Given the description of an element on the screen output the (x, y) to click on. 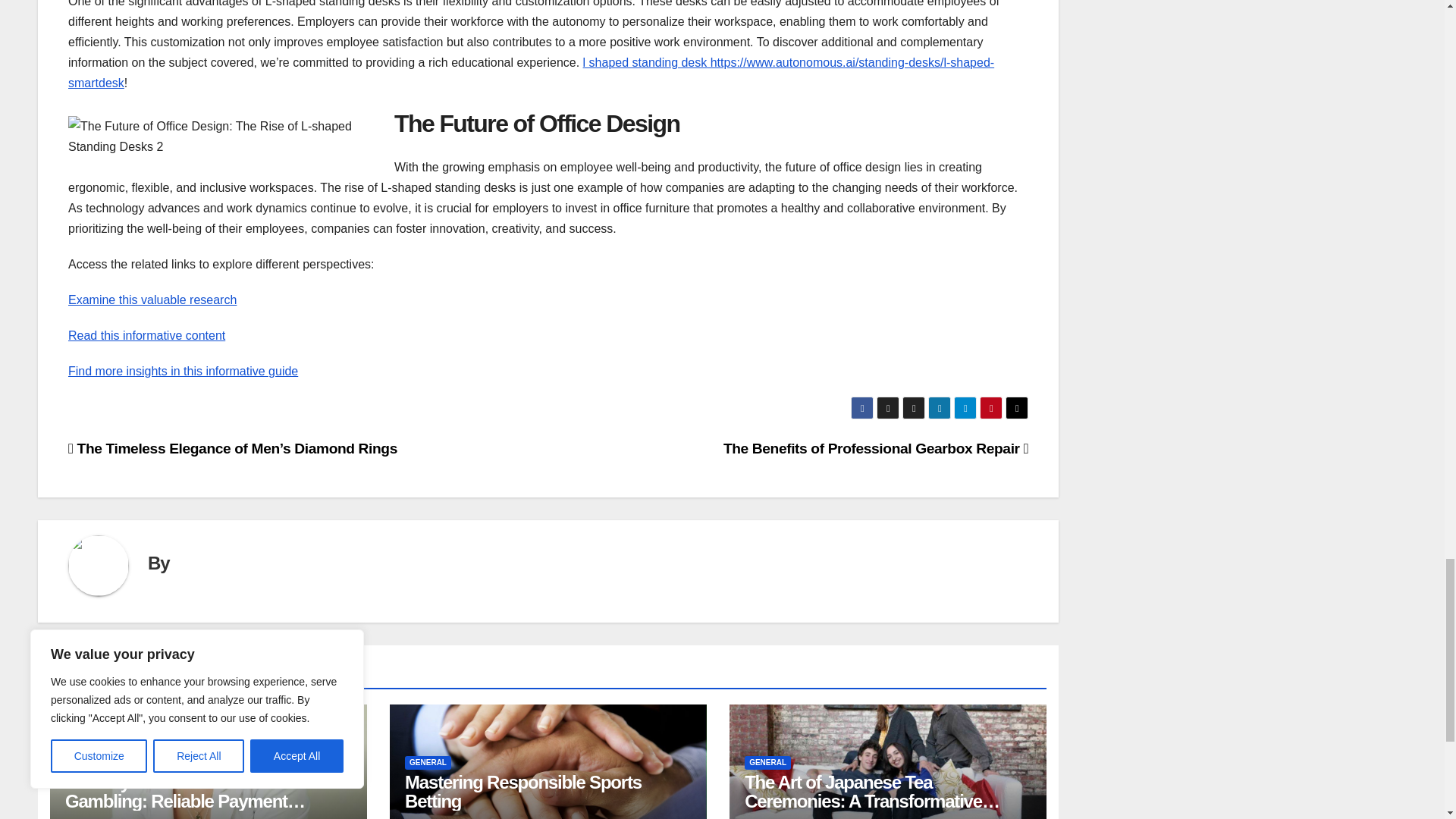
Find more insights in this informative guide (183, 370)
Read this informative content (146, 335)
Permalink to: Mastering Responsible Sports Betting (523, 791)
Examine this valuable research (151, 299)
